Given the description of an element on the screen output the (x, y) to click on. 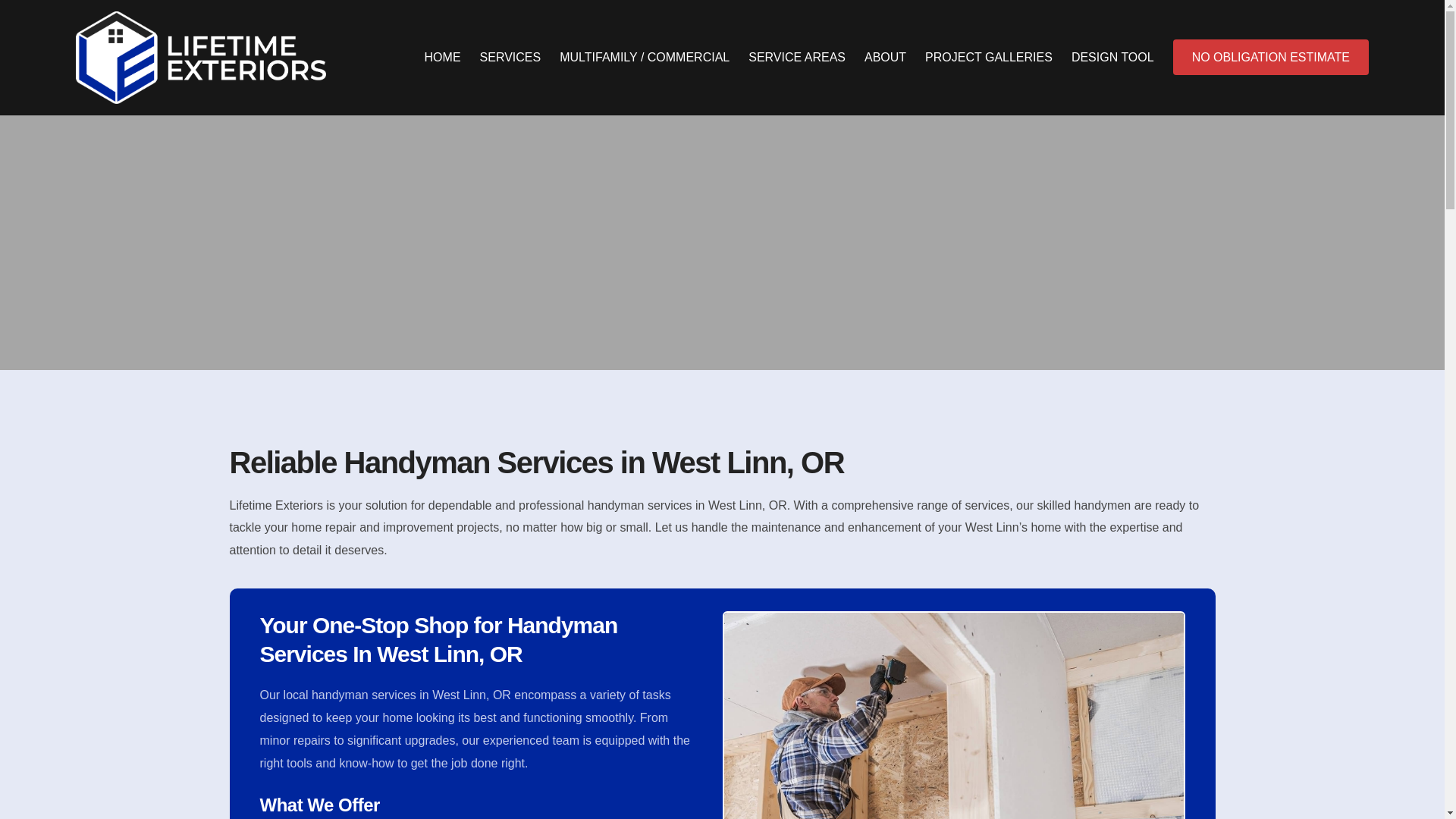
SERVICE AREAS (796, 57)
ABOUT (884, 57)
HOME (443, 57)
SERVICES (510, 57)
